Given the description of an element on the screen output the (x, y) to click on. 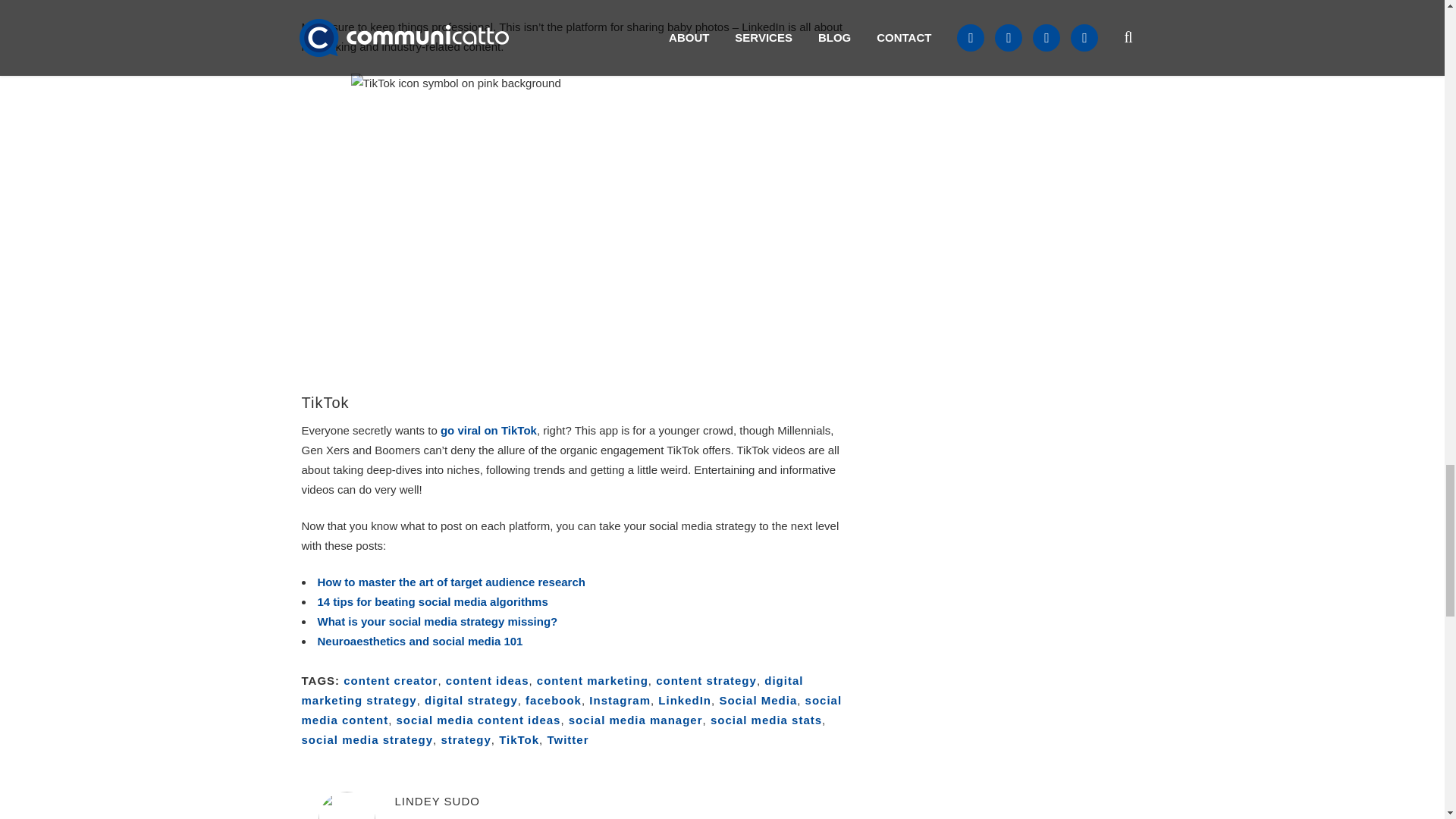
digital marketing strategy (552, 690)
Neuroaesthetics and social media 101 (419, 640)
14 tips for beating social media algorithms (432, 601)
go viral on TikTok (489, 430)
content strategy (706, 680)
content ideas (487, 680)
How to master the art of target audience research (451, 581)
content creator (390, 680)
content marketing (592, 680)
What is your social media strategy missing? (437, 621)
